Given the description of an element on the screen output the (x, y) to click on. 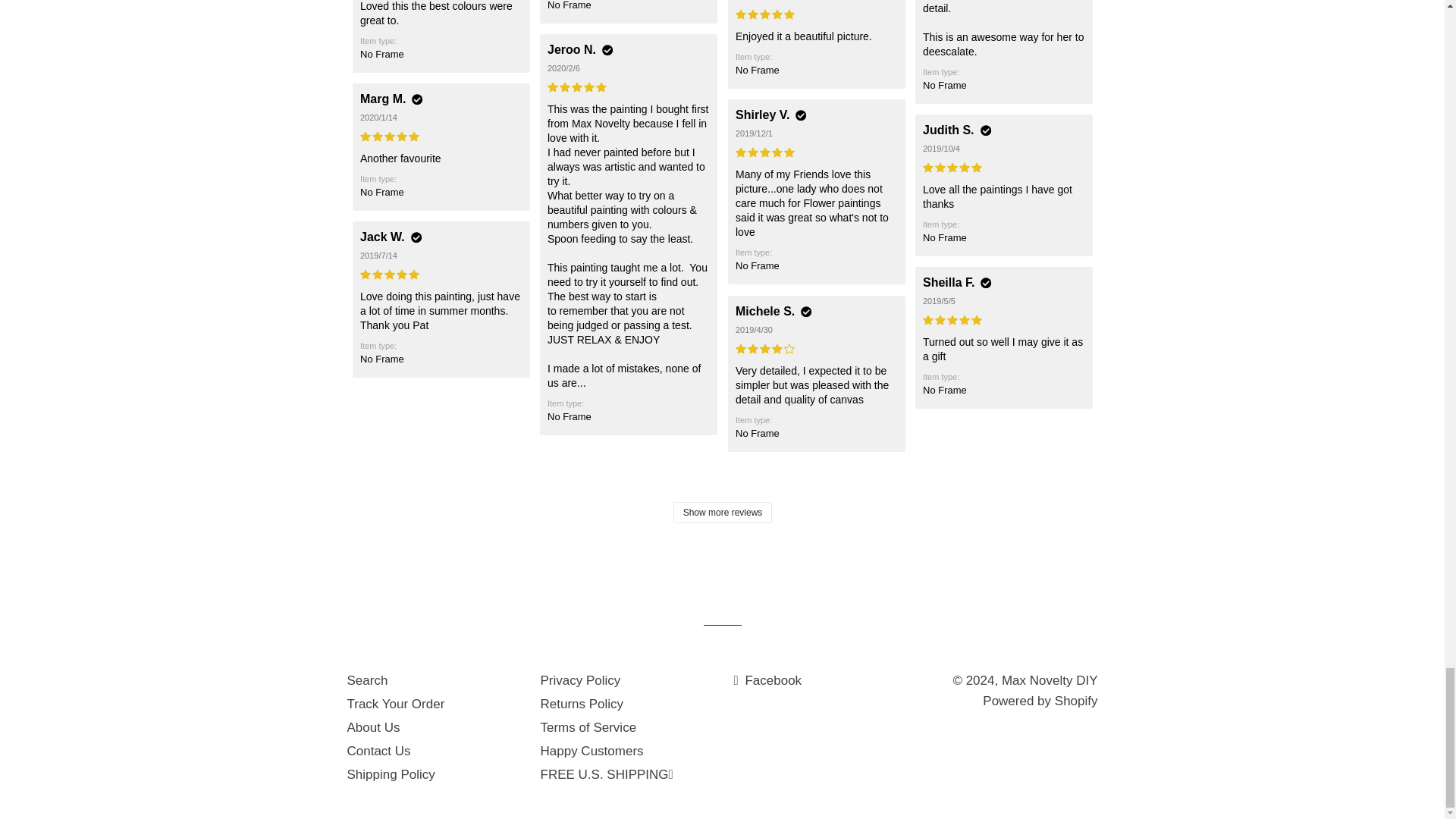
Max Novelty DIY on Facebook (767, 680)
